Given the description of an element on the screen output the (x, y) to click on. 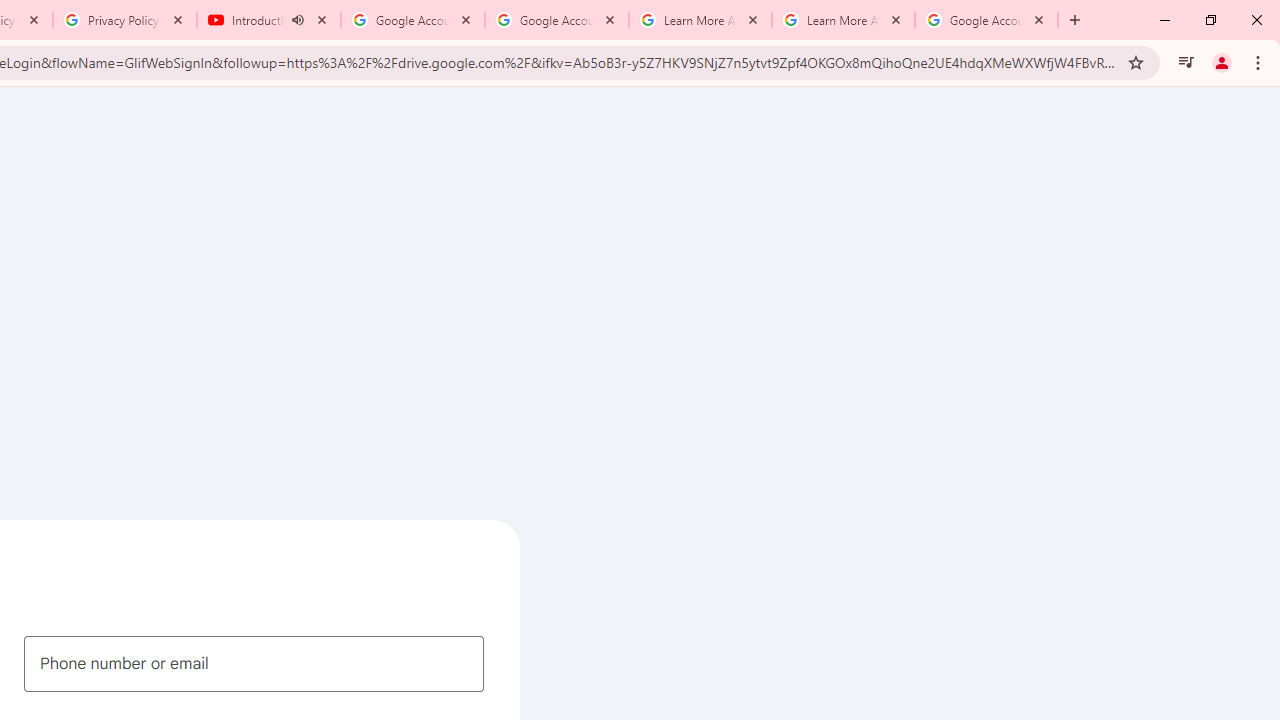
Phone number or email (253, 663)
Google Account Help (556, 20)
Google Account (986, 20)
Google Account Help (412, 20)
